Given the description of an element on the screen output the (x, y) to click on. 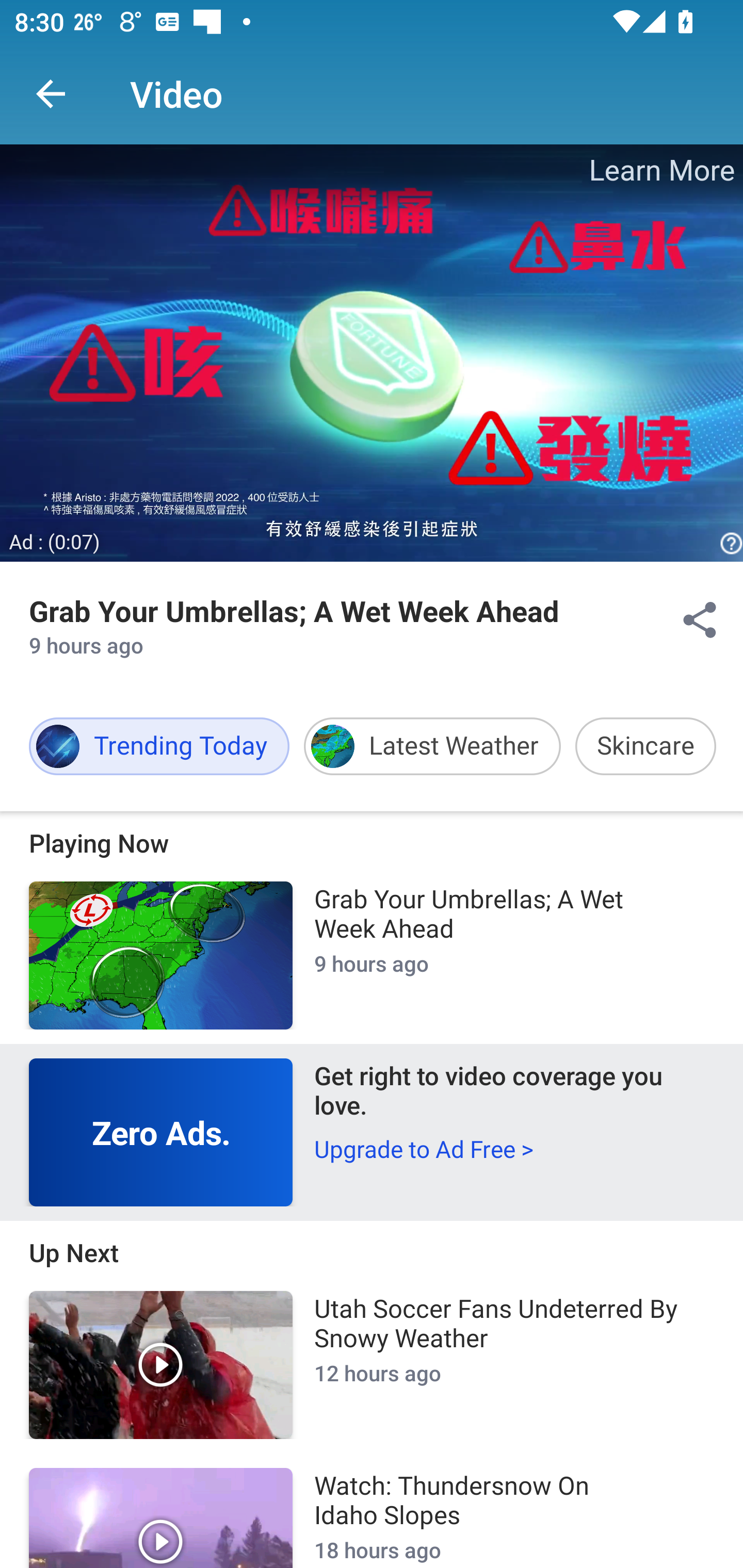
Navigate up (50, 93)
Learn More (660, 170)
Ad : (0:07) (54, 542)
help_outline_white_24dp_with_3px_trbl_padding (728, 543)
Trending Today (158, 746)
Latest Weather (431, 746)
Skincare (645, 746)
Play (160, 1364)
Play (160, 1517)
